Given the description of an element on the screen output the (x, y) to click on. 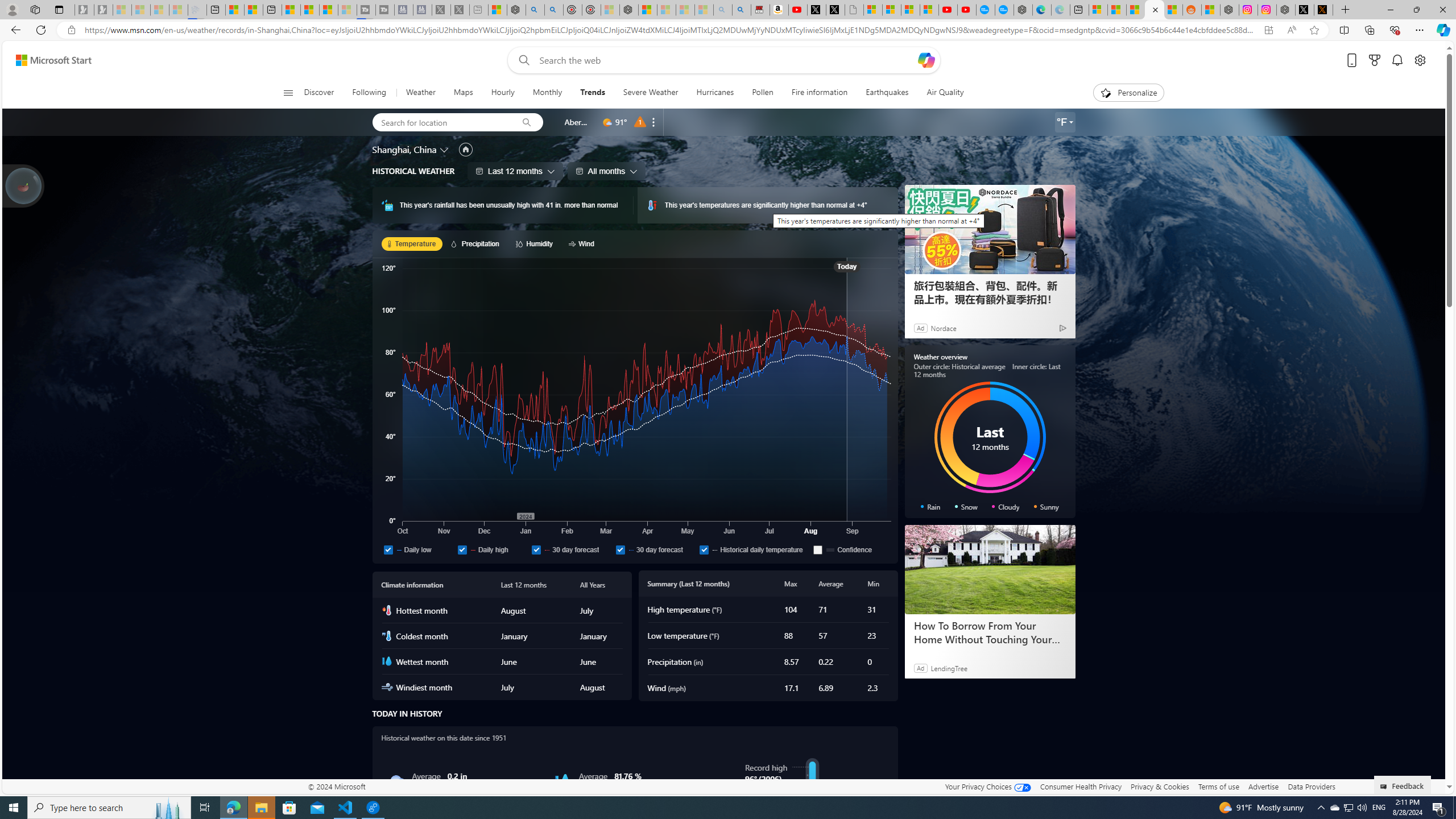
LendingTree (948, 668)
Shanghai, China hourly forecast | Microsoft Weather (1135, 9)
Minimize (1390, 9)
amazon - Search - Sleeping (722, 9)
Gloom - YouTube (947, 9)
Nordace - Nordace Siena Is Not An Ordinary Backpack (628, 9)
Personal Profile (12, 9)
Wildlife - MSN (497, 9)
Daily high (462, 549)
Nordace (943, 327)
30 day forecast (655, 549)
Ad Choice (1061, 327)
